Given the description of an element on the screen output the (x, y) to click on. 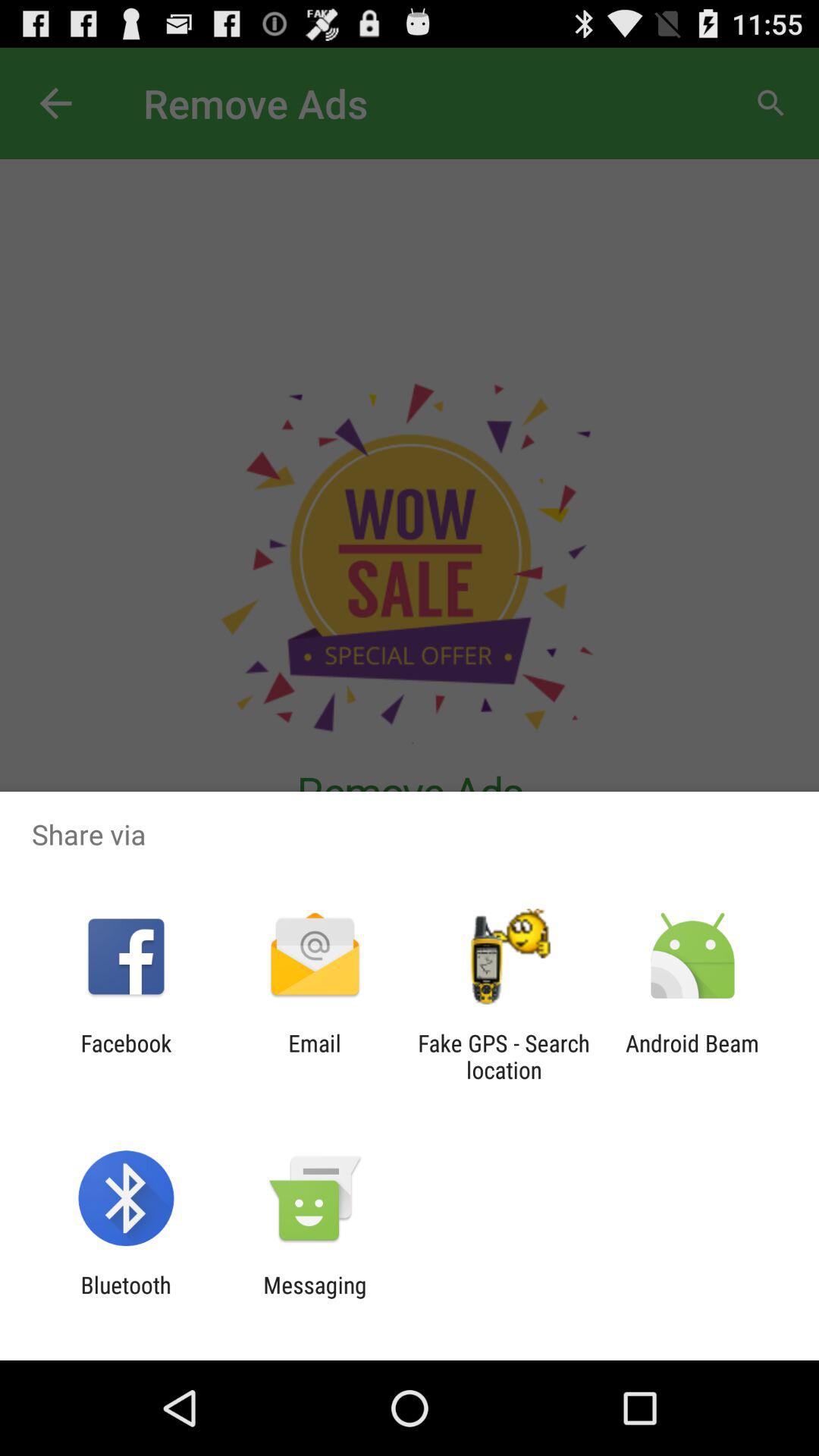
press the icon to the right of facebook icon (314, 1056)
